Given the description of an element on the screen output the (x, y) to click on. 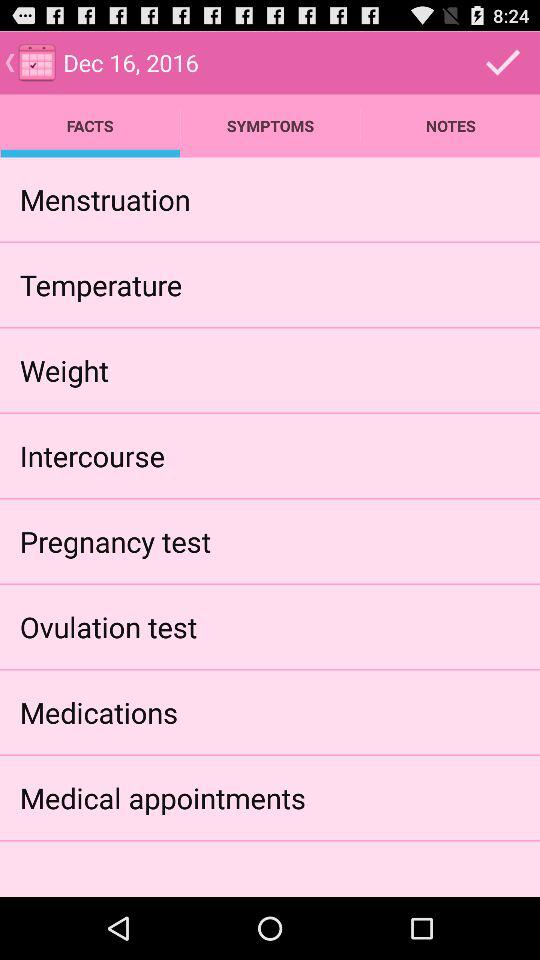
flip to the pregnancy test icon (115, 540)
